Given the description of an element on the screen output the (x, y) to click on. 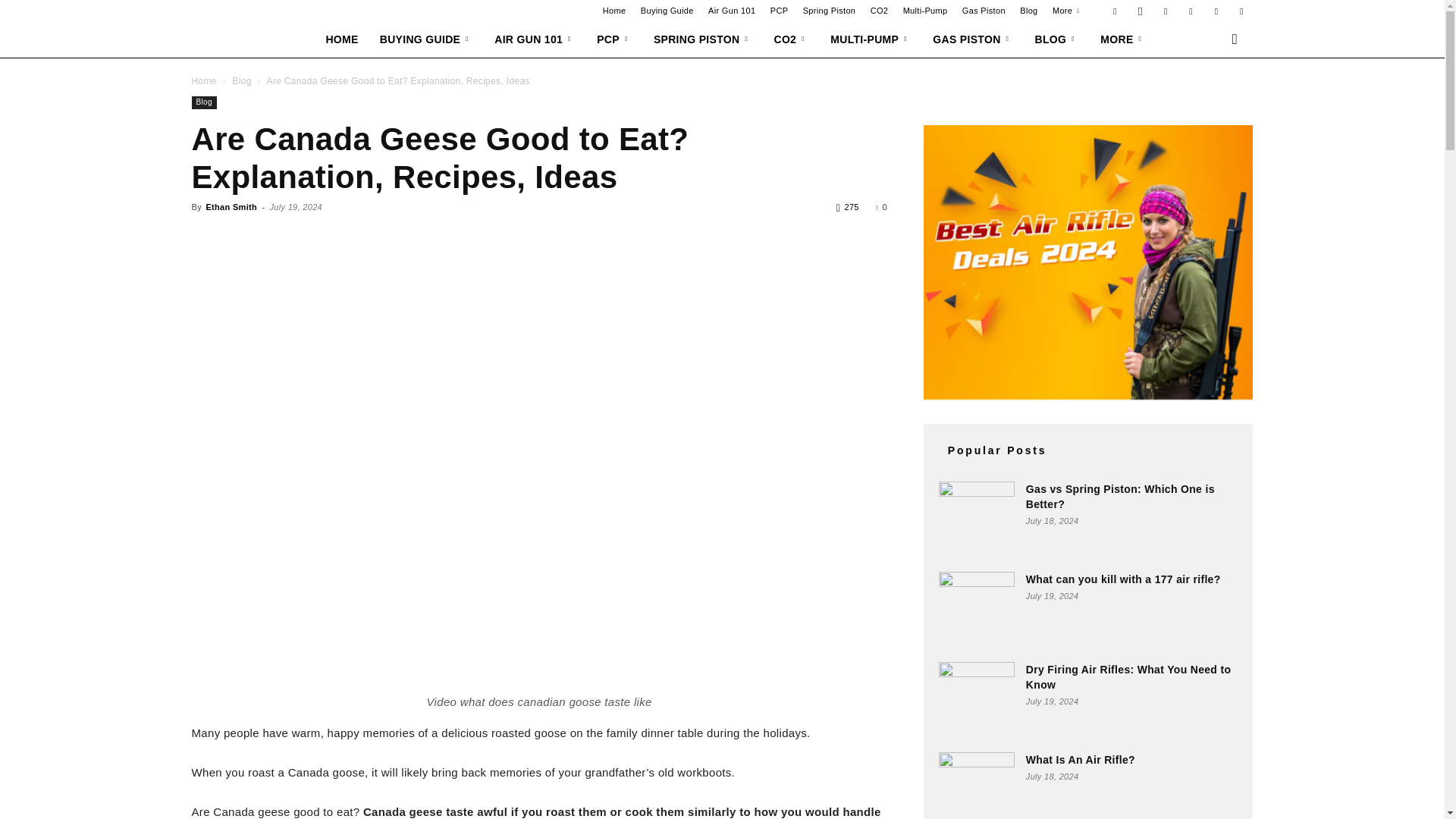
Instagram (1140, 10)
Home (614, 10)
Soundcloud (1190, 10)
Pinterest (1165, 10)
Tumblr (1216, 10)
Facebook (1114, 10)
Buying Guide (667, 10)
Twitter (1241, 10)
